Given the description of an element on the screen output the (x, y) to click on. 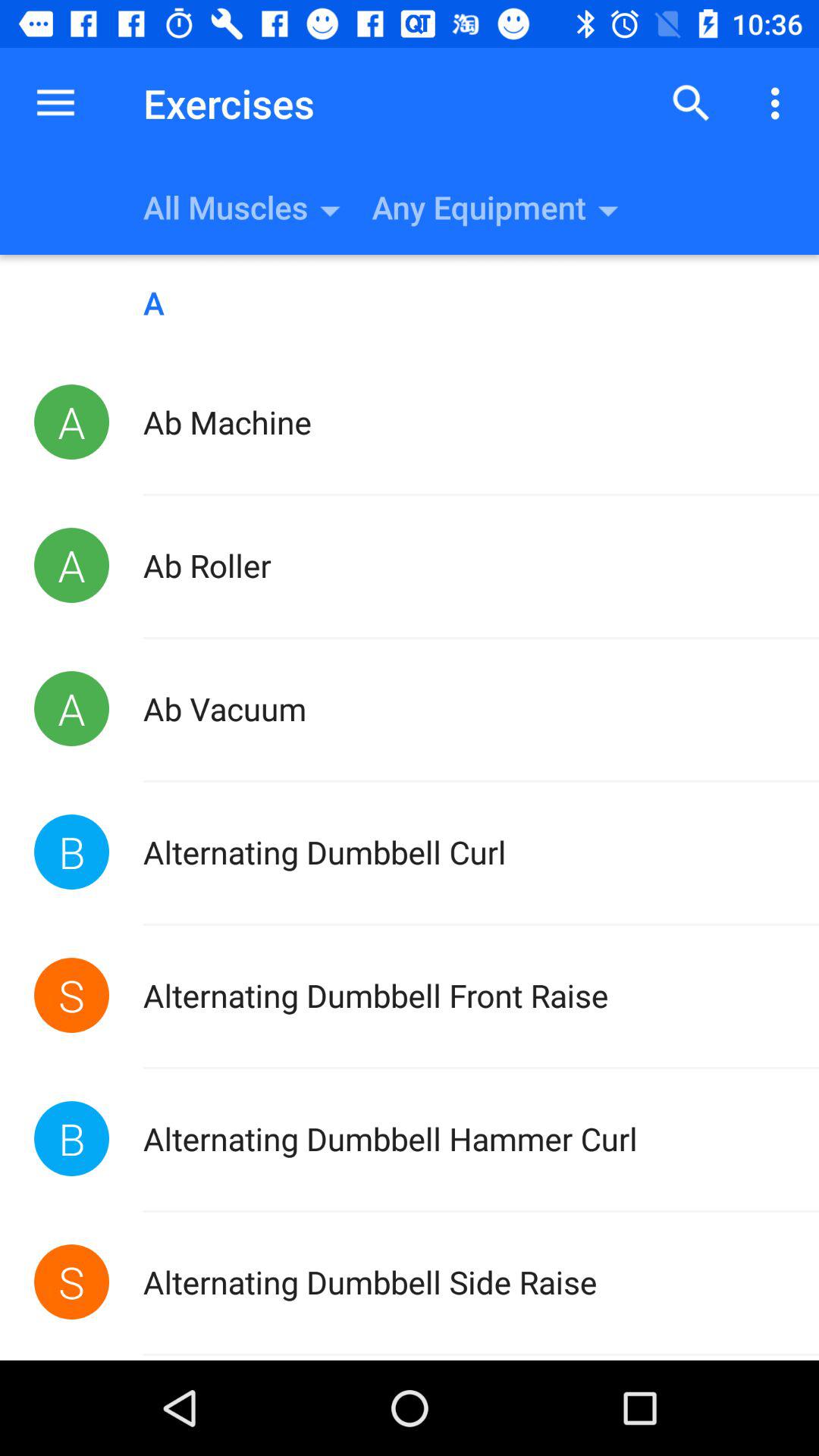
turn on the item next to the exercises (55, 103)
